Given the description of an element on the screen output the (x, y) to click on. 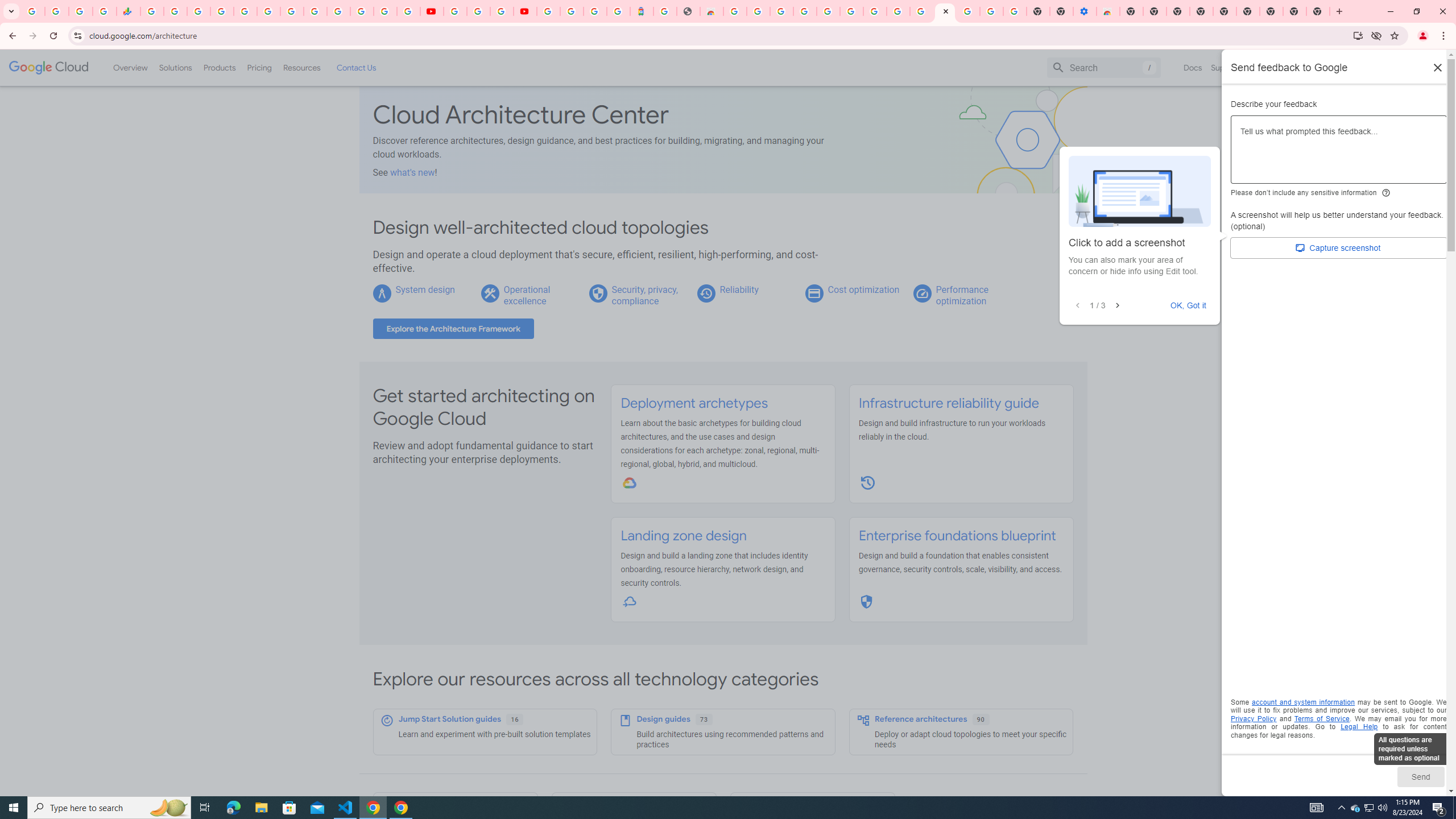
Browse the Google Chrome Community - Google Chrome Community (921, 11)
Create your Google Account (501, 11)
Sign in - Google Accounts (968, 11)
Ad Settings (804, 11)
Start free (1405, 67)
Security, privacy, compliance (644, 295)
OK, Got it (1188, 305)
